Given the description of an element on the screen output the (x, y) to click on. 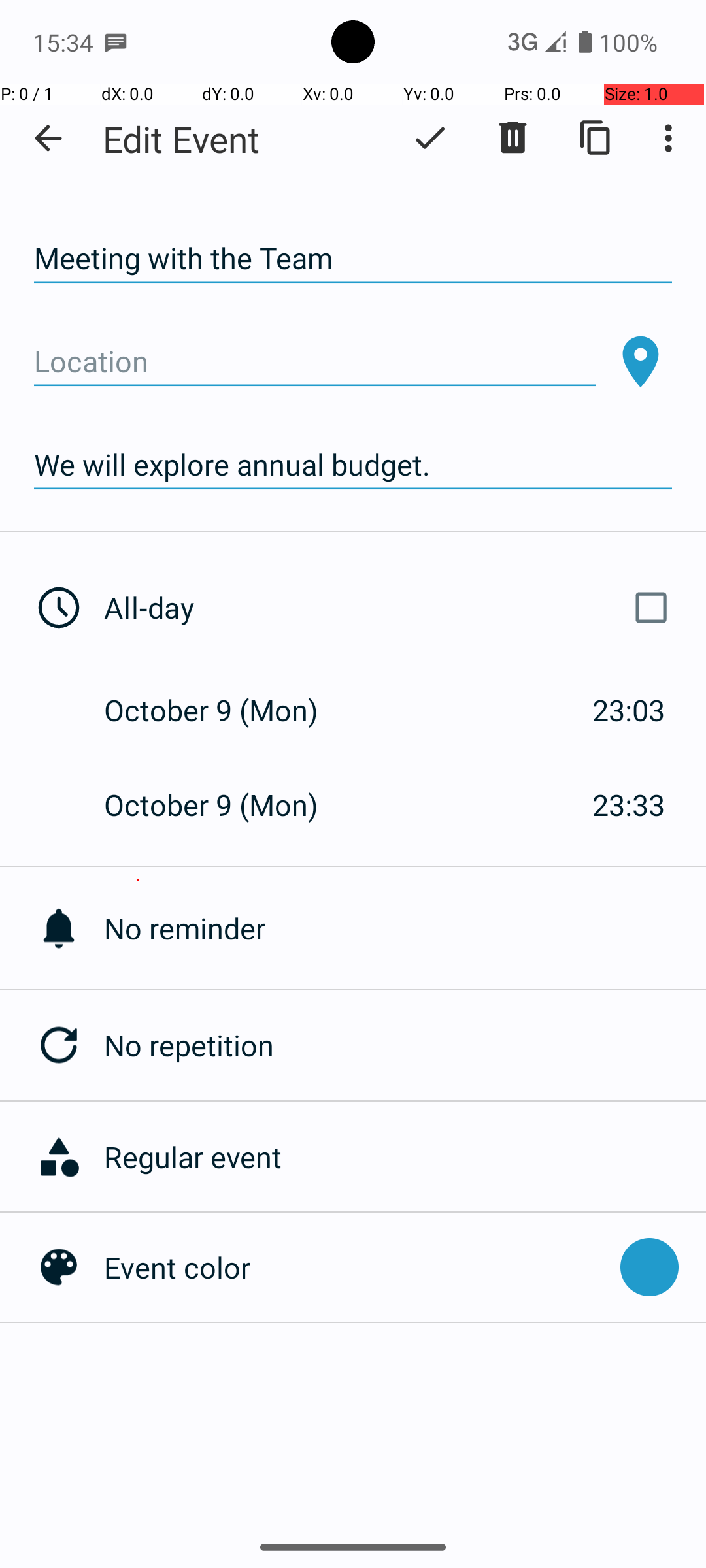
Meeting with the Team Element type: android.widget.EditText (352, 258)
We will explore annual budget. Element type: android.widget.EditText (352, 465)
October 9 (Mon) Element type: android.widget.TextView (224, 709)
23:03 Element type: android.widget.TextView (628, 709)
23:33 Element type: android.widget.TextView (628, 804)
